Given the description of an element on the screen output the (x, y) to click on. 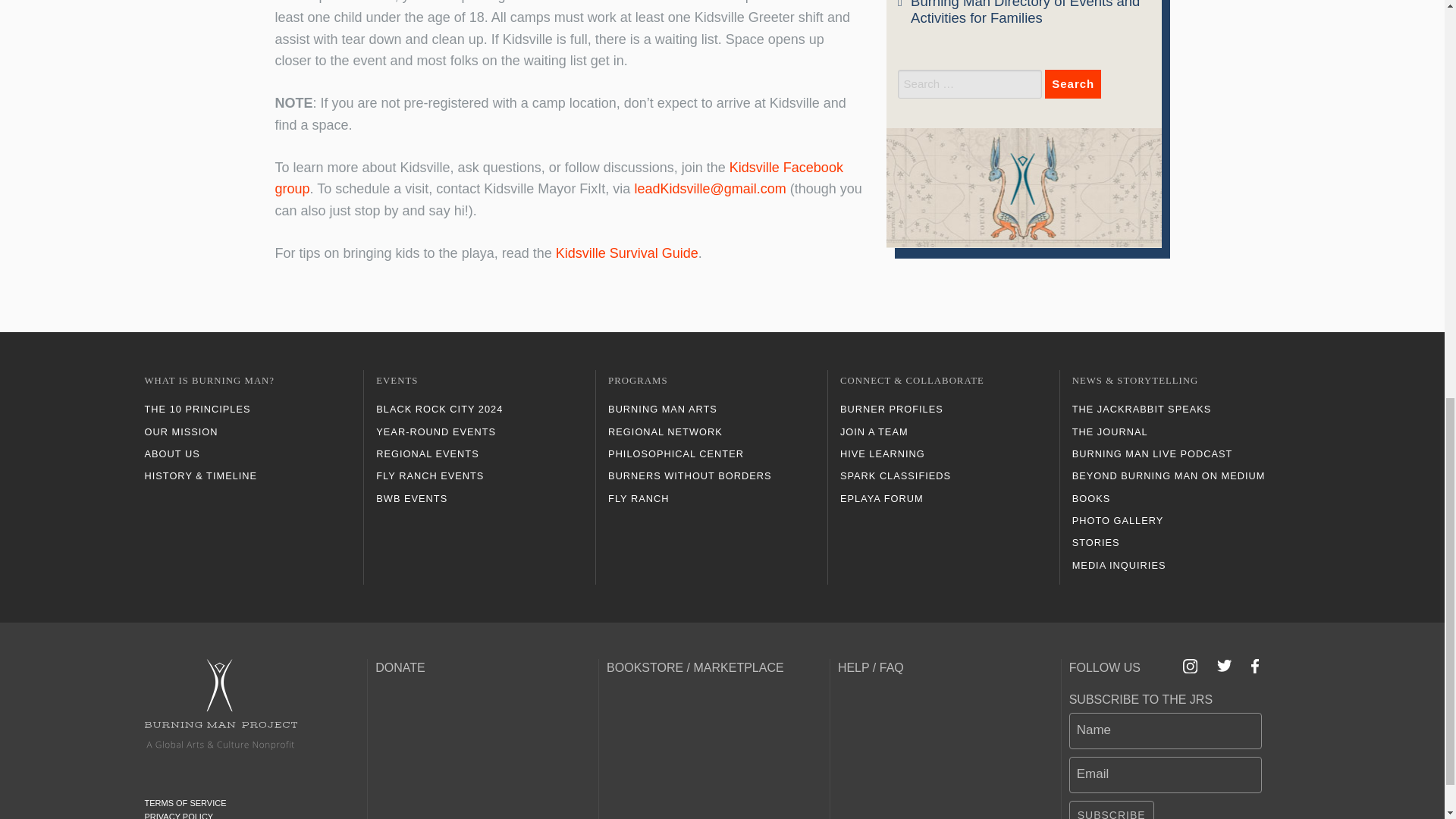
LINK TO BURNING MAN TWITTER (1224, 665)
Search (1072, 83)
LINK TO BURNING MAN INSTAGRAM (1190, 666)
Search (1072, 83)
